Given the description of an element on the screen output the (x, y) to click on. 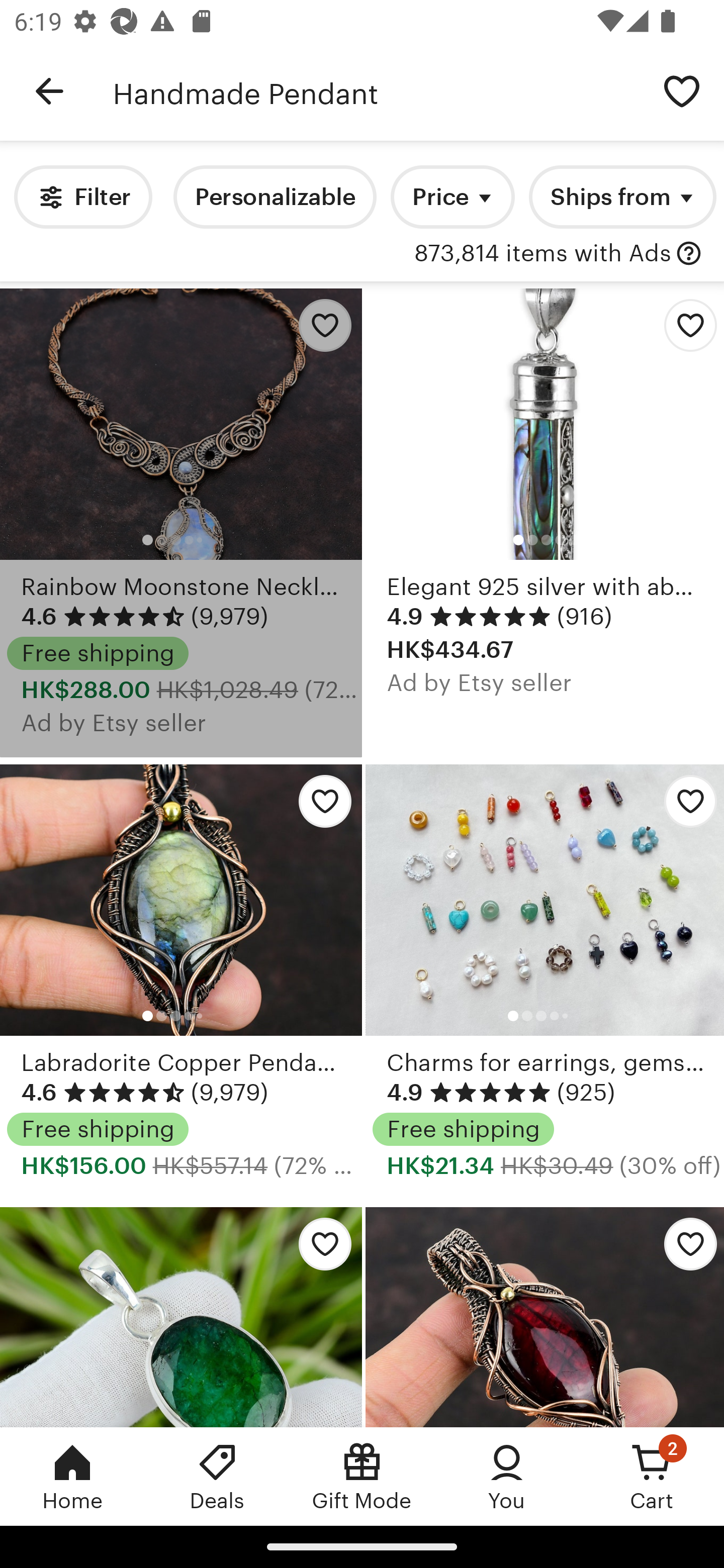
Navigate up (49, 91)
Save search (681, 90)
Handmade Pendant (375, 91)
Filter (82, 197)
Personalizable (274, 197)
Price (452, 197)
Ships from (622, 197)
873,814 items with Ads (542, 253)
with Ads (688, 253)
Deals (216, 1475)
Gift Mode (361, 1475)
You (506, 1475)
Cart, 2 new notifications Cart (651, 1475)
